Given the description of an element on the screen output the (x, y) to click on. 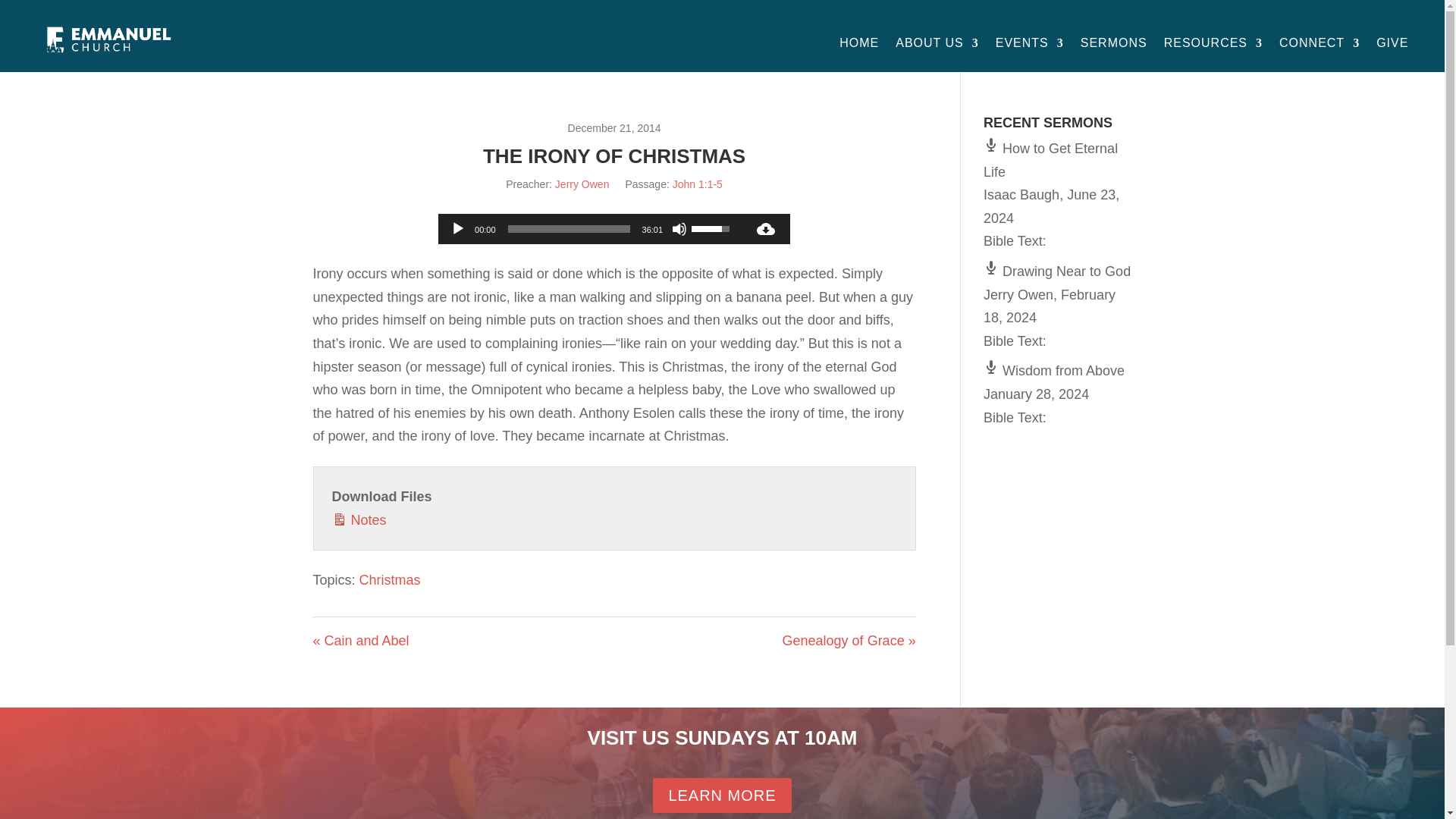
Wisdom from Above (1054, 370)
EVENTS (1029, 43)
RESOURCES (1212, 43)
Play (457, 228)
Mute (679, 228)
CONNECT (1319, 43)
Download Audio File (765, 228)
HOME (859, 43)
Drawing Near to God (1057, 271)
How to Get Eternal Life (1051, 159)
ABOUT US (936, 43)
GIVE (1391, 43)
SERMONS (1113, 43)
